Given the description of an element on the screen output the (x, y) to click on. 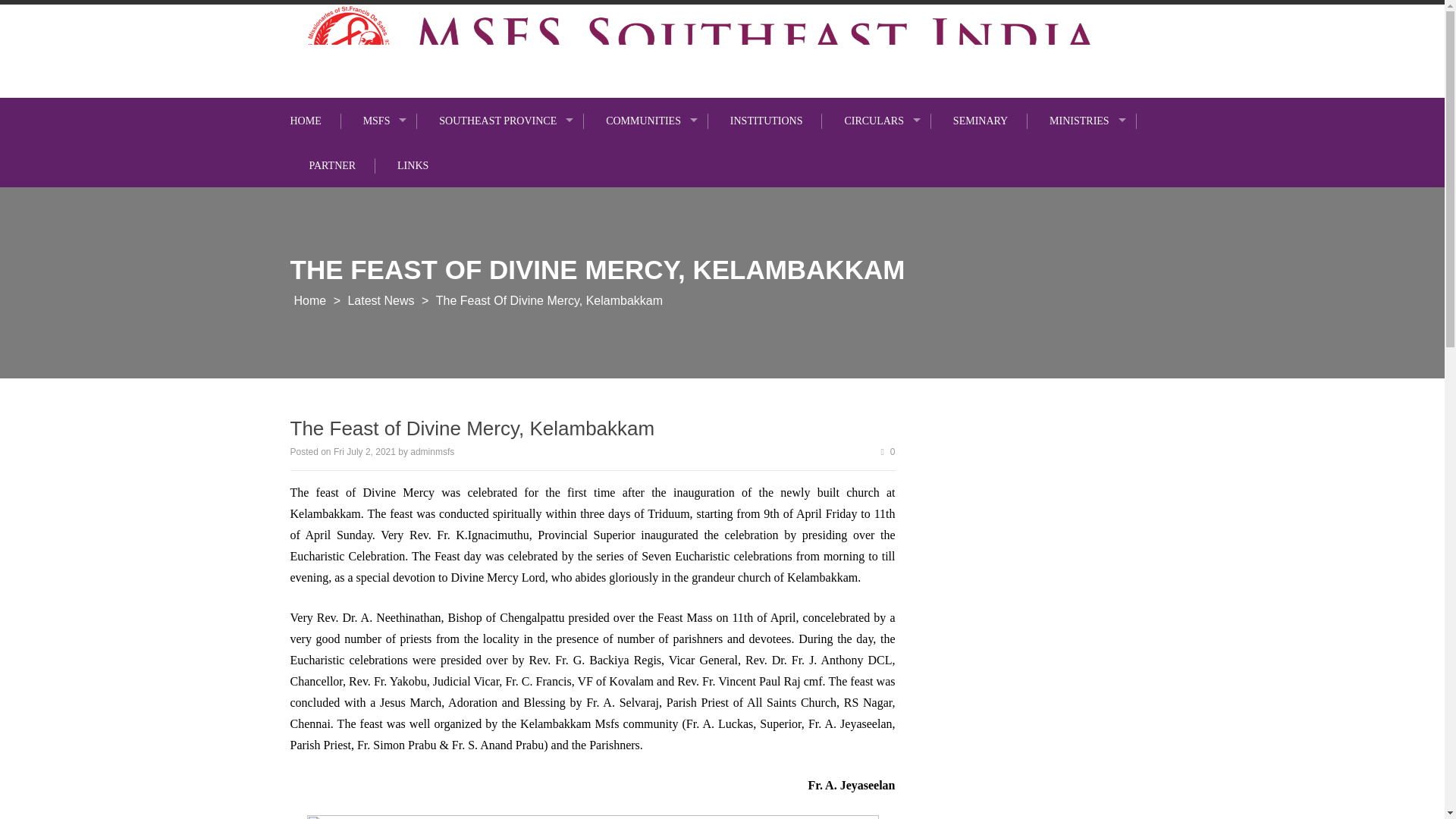
MSFS (380, 120)
HOME (314, 120)
SOUTHEAST PROVINCE (501, 120)
COMMUNITIES (646, 120)
